Given the description of an element on the screen output the (x, y) to click on. 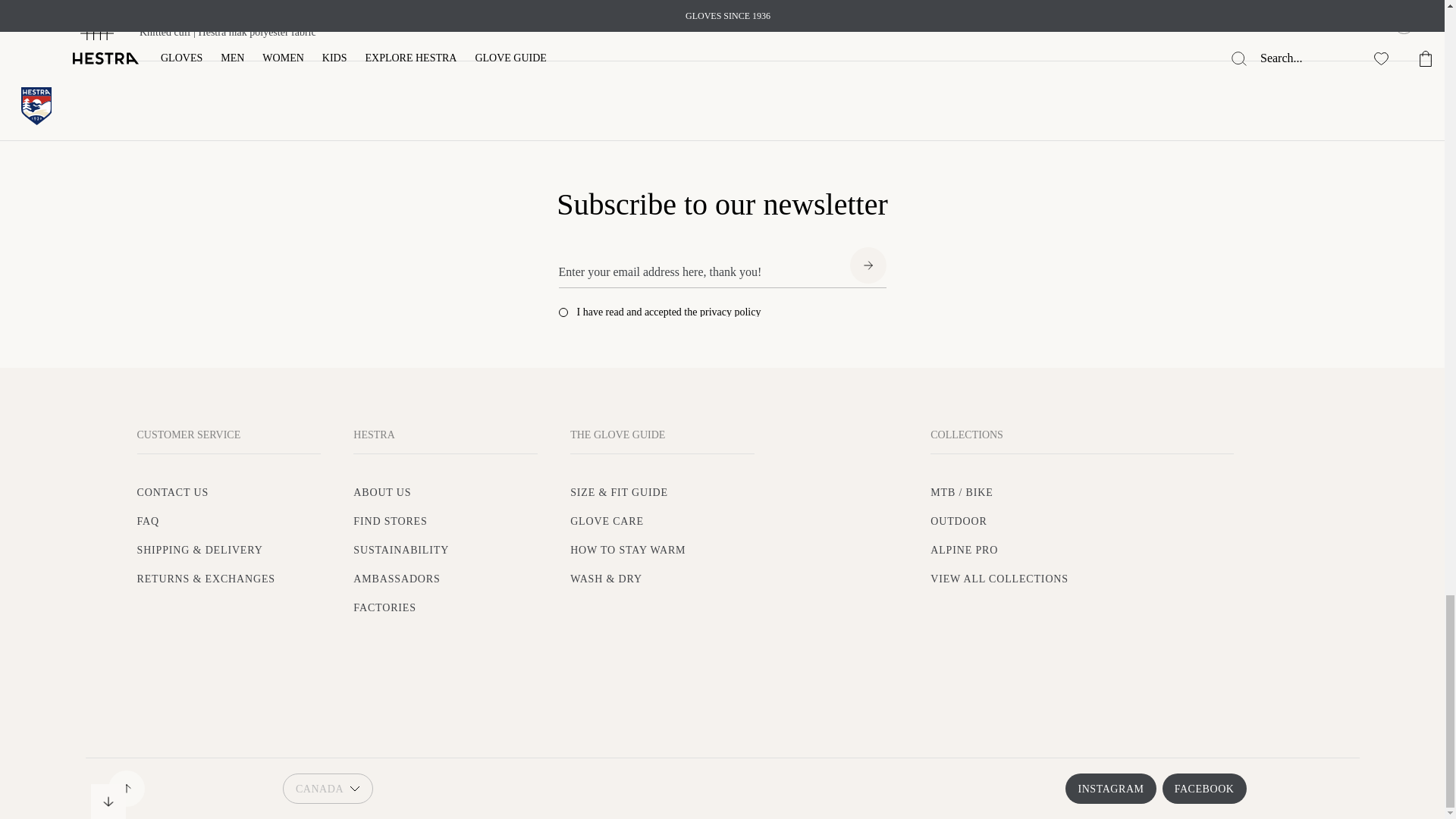
FIND STORES (389, 521)
CONTACT US (172, 491)
privacy policy (730, 311)
ABOUT US (381, 491)
AMBASSADORS (396, 578)
SUSTAINABILITY (400, 550)
FAQ (148, 521)
